Given the description of an element on the screen output the (x, y) to click on. 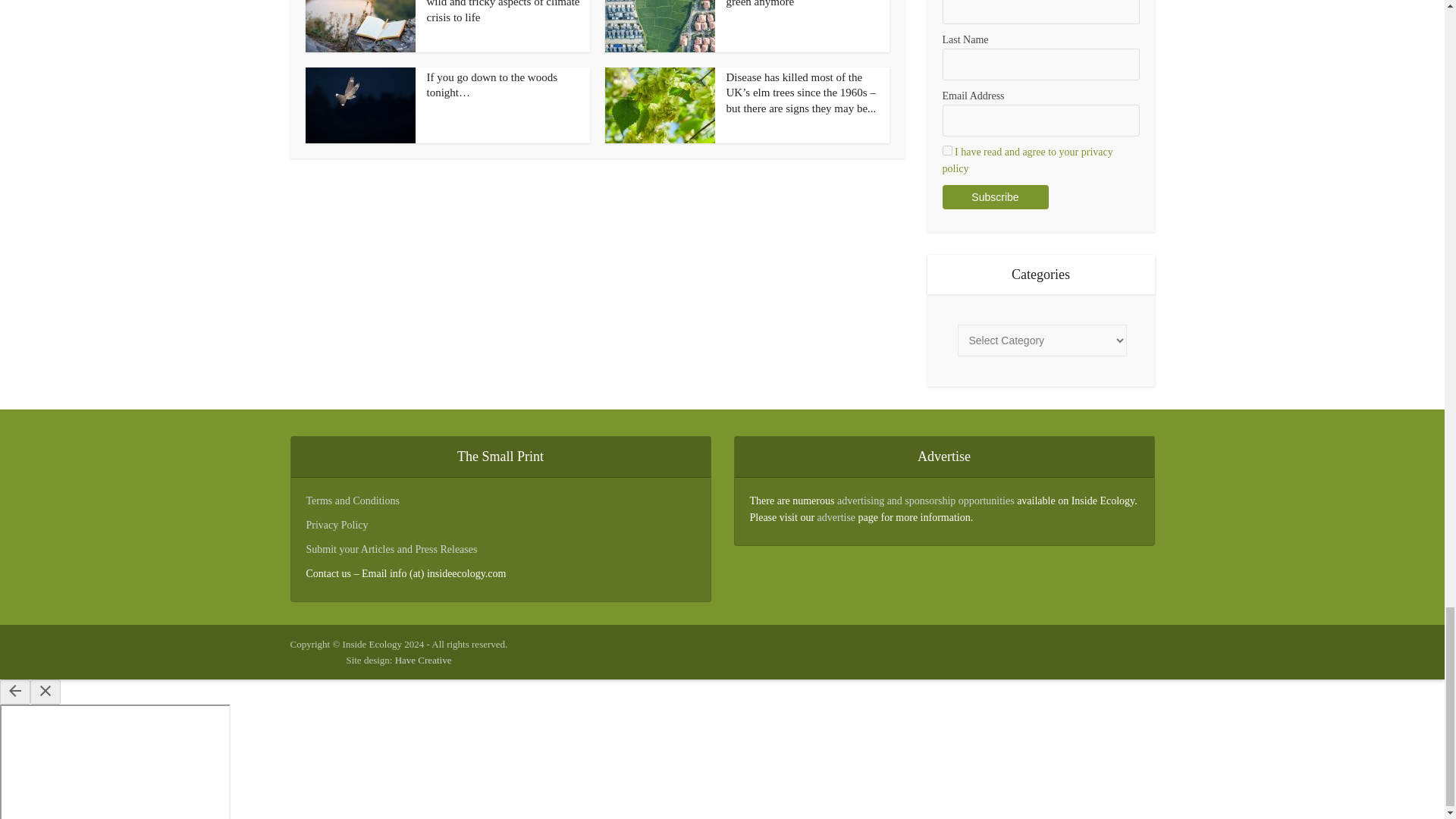
Subscribe (995, 197)
1 (947, 150)
